Given the description of an element on the screen output the (x, y) to click on. 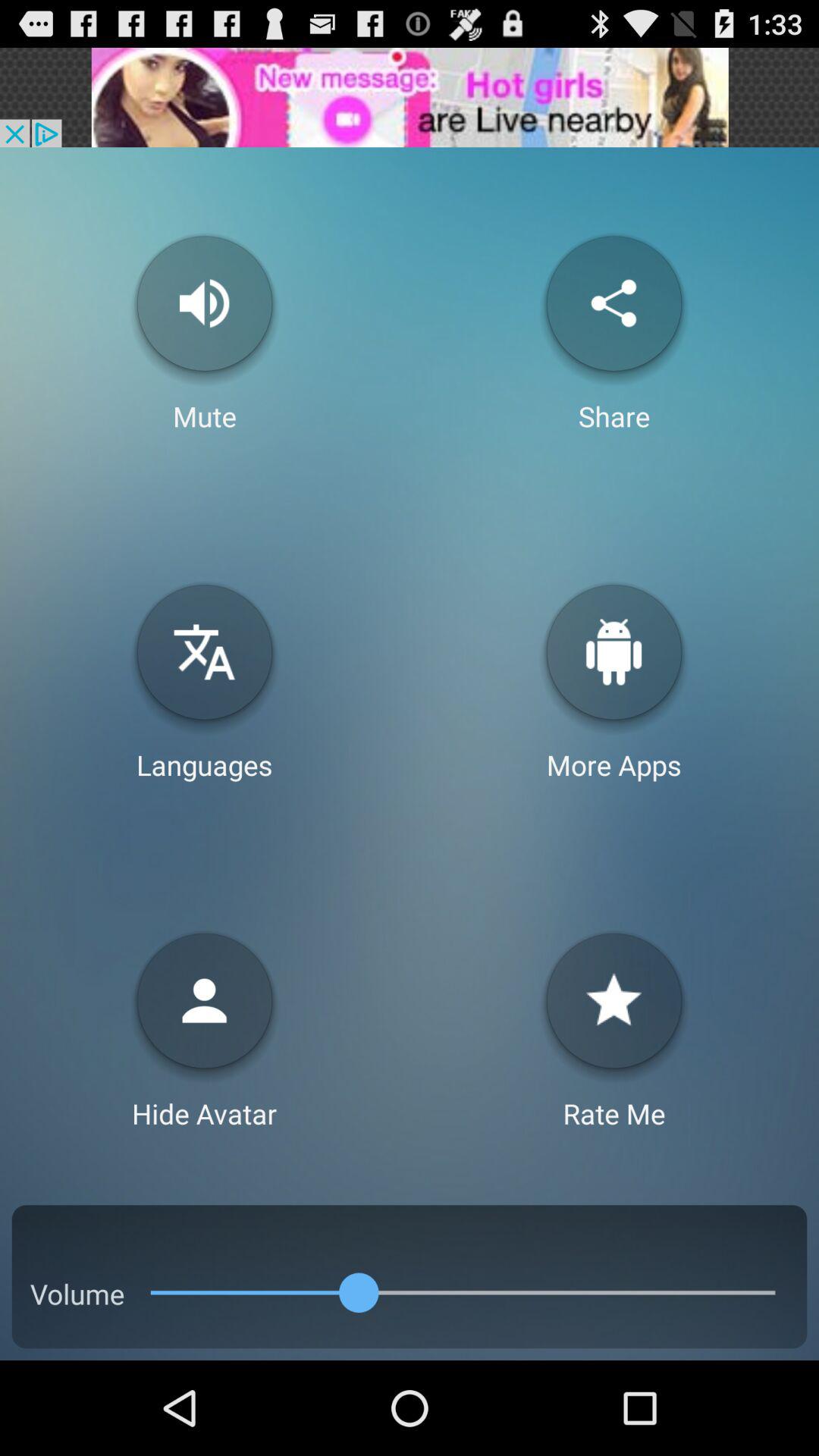
advertisement (409, 97)
